Given the description of an element on the screen output the (x, y) to click on. 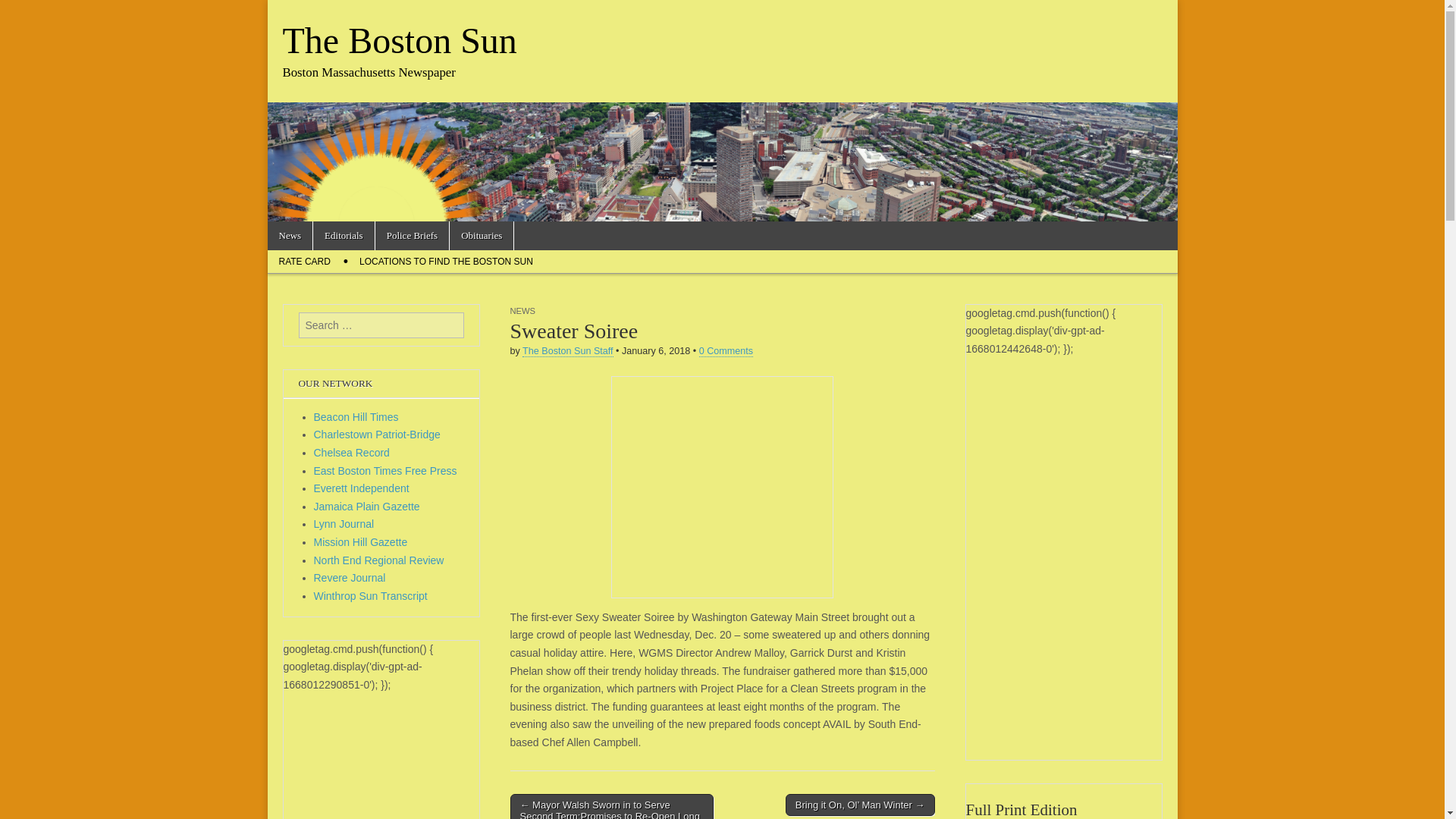
North End Regional Review (379, 560)
Mission Hill Gazette (360, 541)
The Boston Sun Staff (567, 351)
Everett Independent (361, 488)
Lynn Journal (344, 523)
Posts by The Boston Sun Staff (567, 351)
Police Briefs (412, 235)
Charlestown Patriot-Bridge (377, 434)
Search (23, 12)
